Given the description of an element on the screen output the (x, y) to click on. 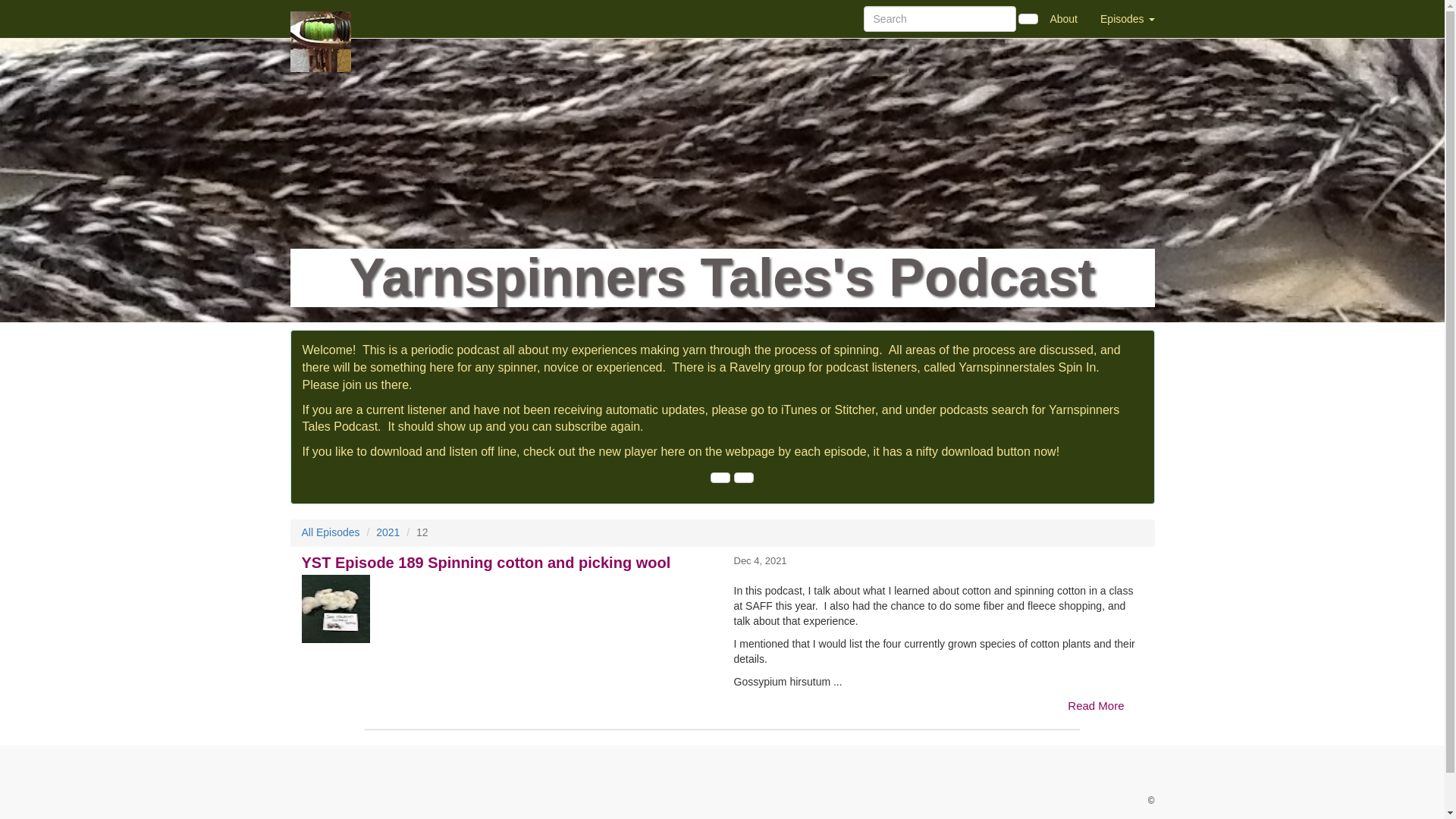
Home Page (320, 18)
Episodes (1127, 18)
Subscribe to RSS Feed (743, 477)
About (1063, 18)
Email This Podcast (719, 477)
YST Episode 189 Spinning cotton and picking wool (506, 608)
